Given the description of an element on the screen output the (x, y) to click on. 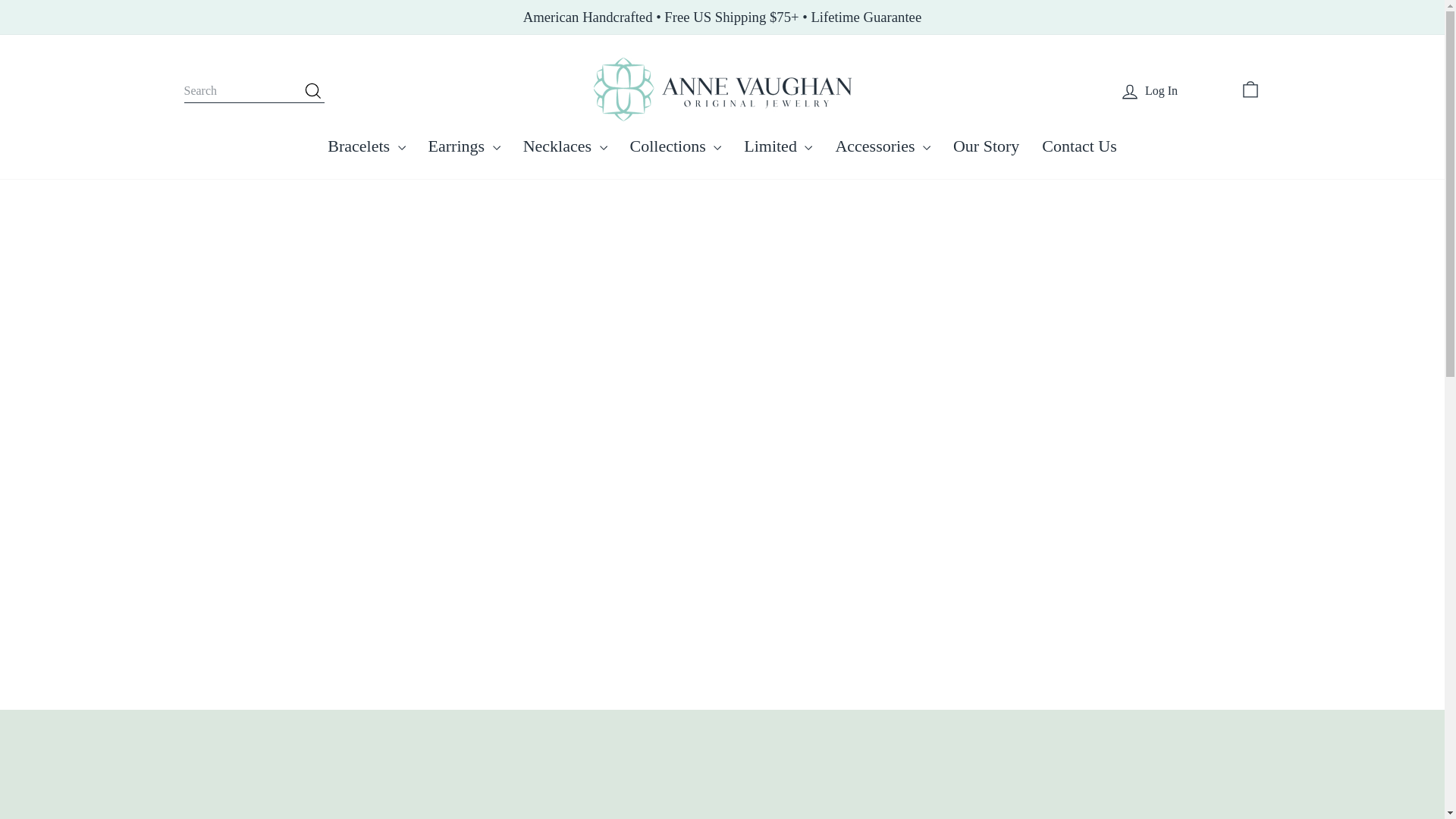
Icon-Bag-Minimal (1249, 88)
ICON-SEARCH (312, 90)
account (1129, 91)
